Given the description of an element on the screen output the (x, y) to click on. 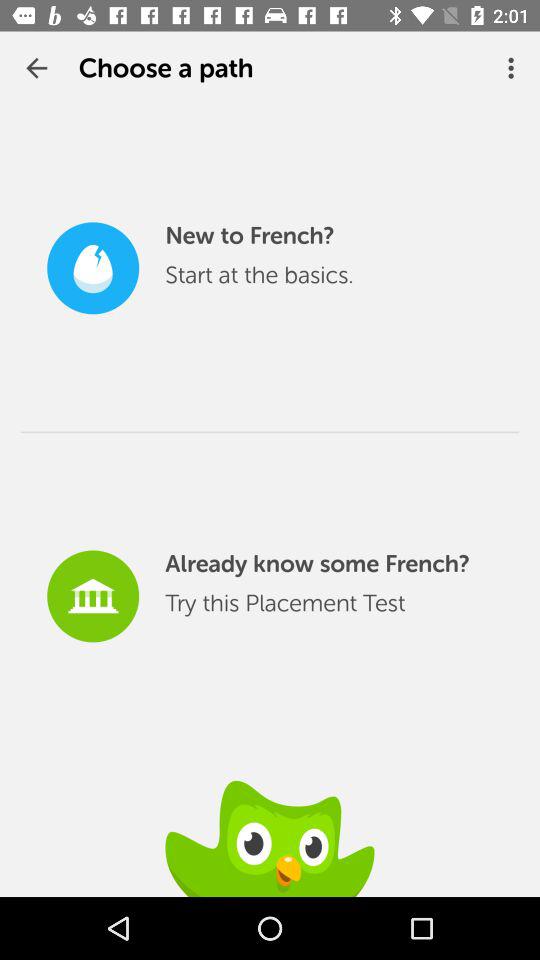
select item next to the choose a path app (36, 68)
